Given the description of an element on the screen output the (x, y) to click on. 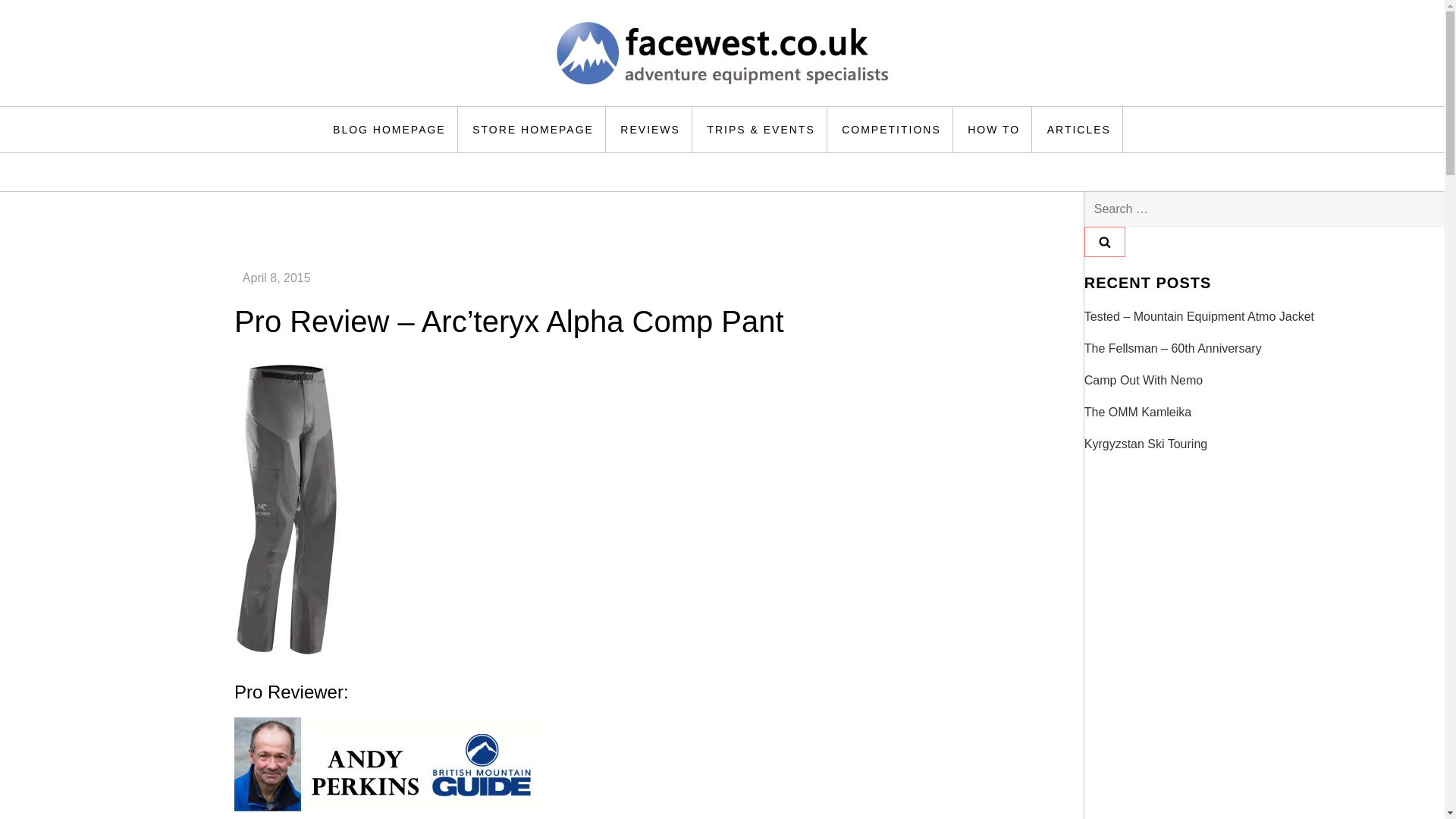
ARTICLES (1078, 129)
COMPETITIONS (891, 129)
Facewest.co.uk (361, 105)
Camp Out With Nemo (1143, 380)
HOW TO (994, 129)
Search (1104, 241)
STORE HOMEPAGE (533, 129)
April 8, 2015 (277, 277)
Kyrgyzstan Ski Touring (1145, 444)
REVIEWS (650, 129)
BLOG HOMEPAGE (389, 129)
The OMM Kamleika (1137, 412)
